Given the description of an element on the screen output the (x, y) to click on. 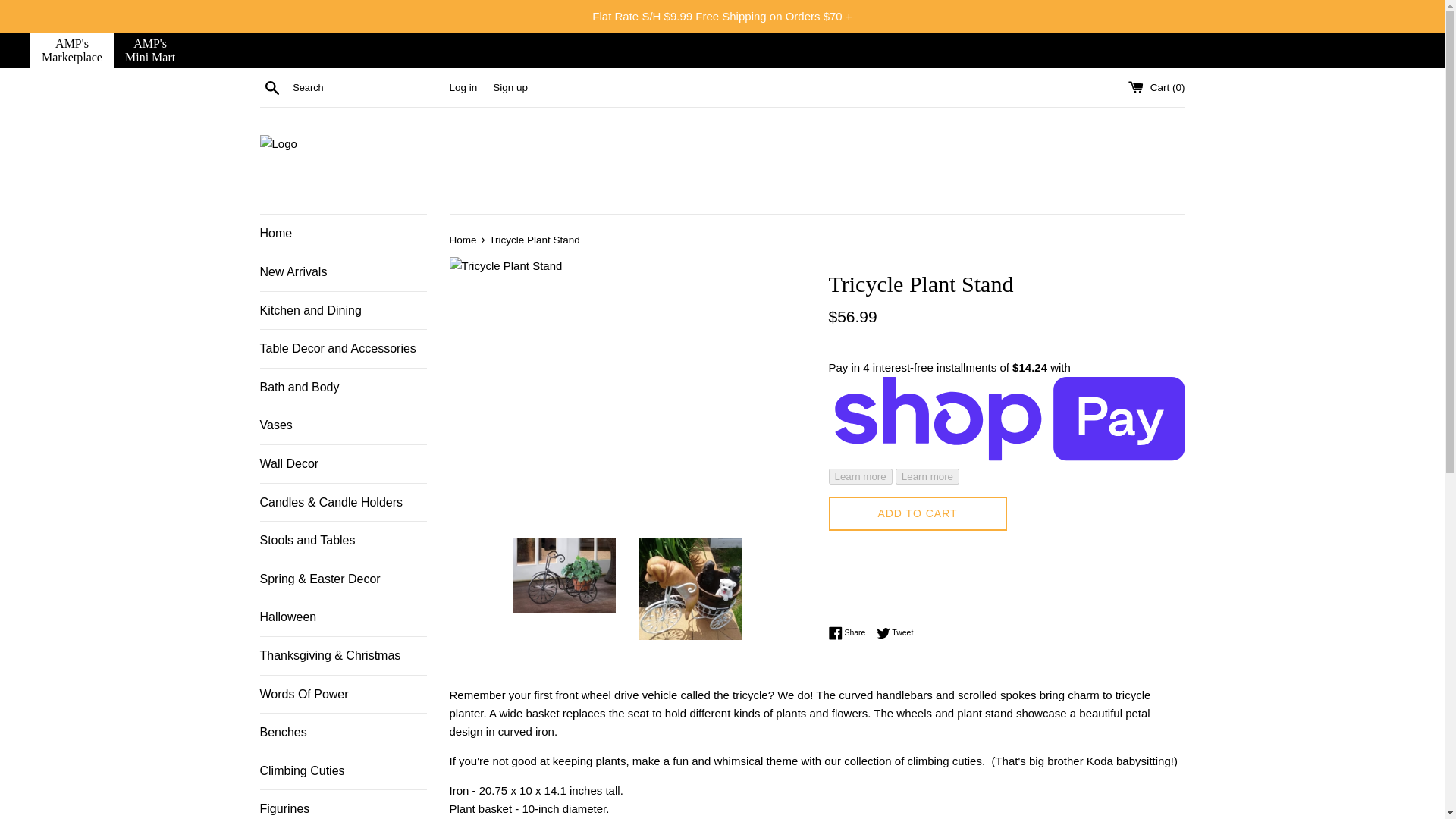
Wall Decor (342, 464)
Home (149, 50)
Kitchen and Dining (342, 233)
ADD TO CART (342, 310)
Home (917, 513)
Climbing Cuties (463, 239)
Words Of Power (342, 771)
Log in (342, 694)
Search (462, 87)
